Given the description of an element on the screen output the (x, y) to click on. 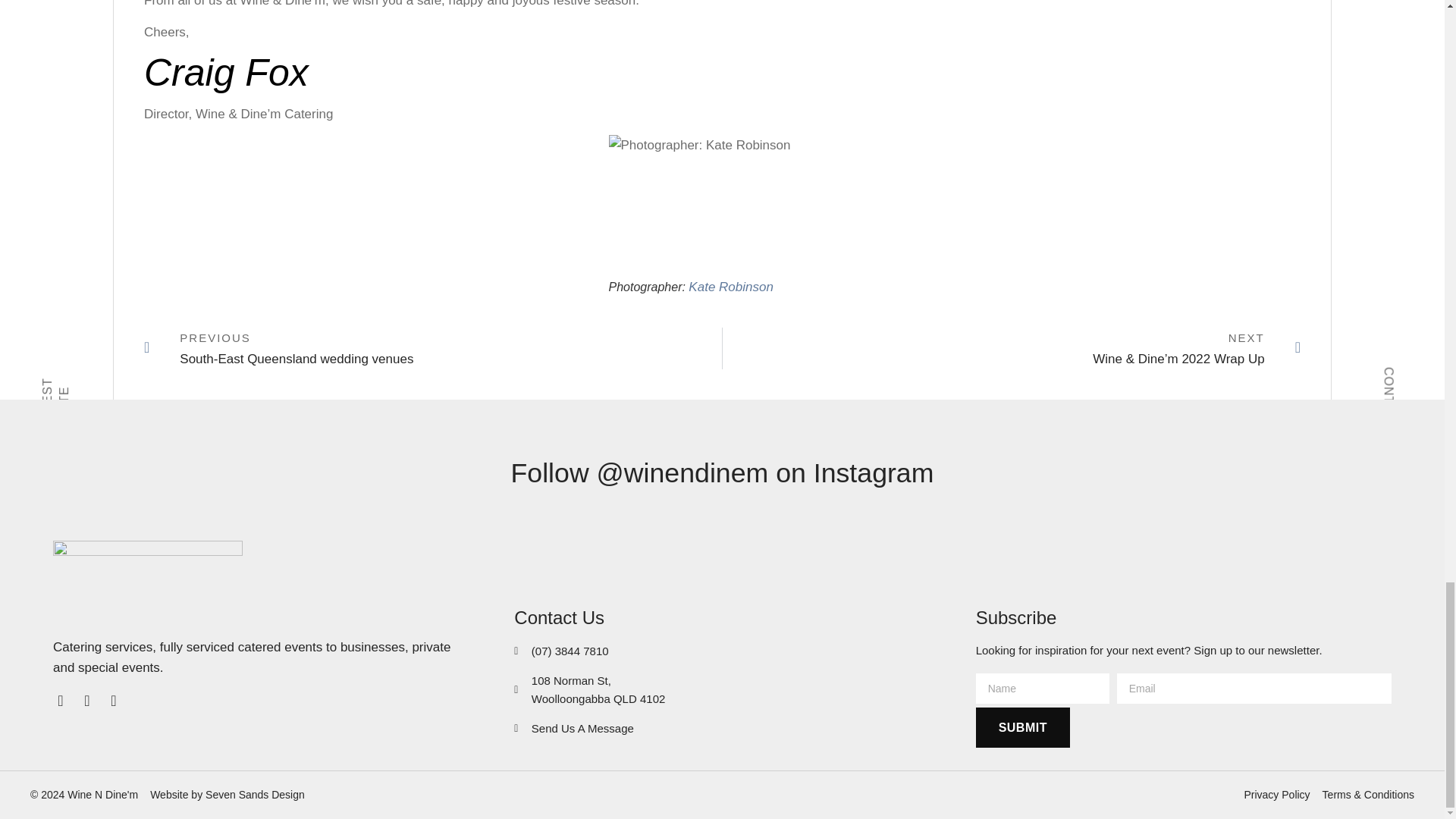
Photographer: Kate Robinson (721, 205)
